Given the description of an element on the screen output the (x, y) to click on. 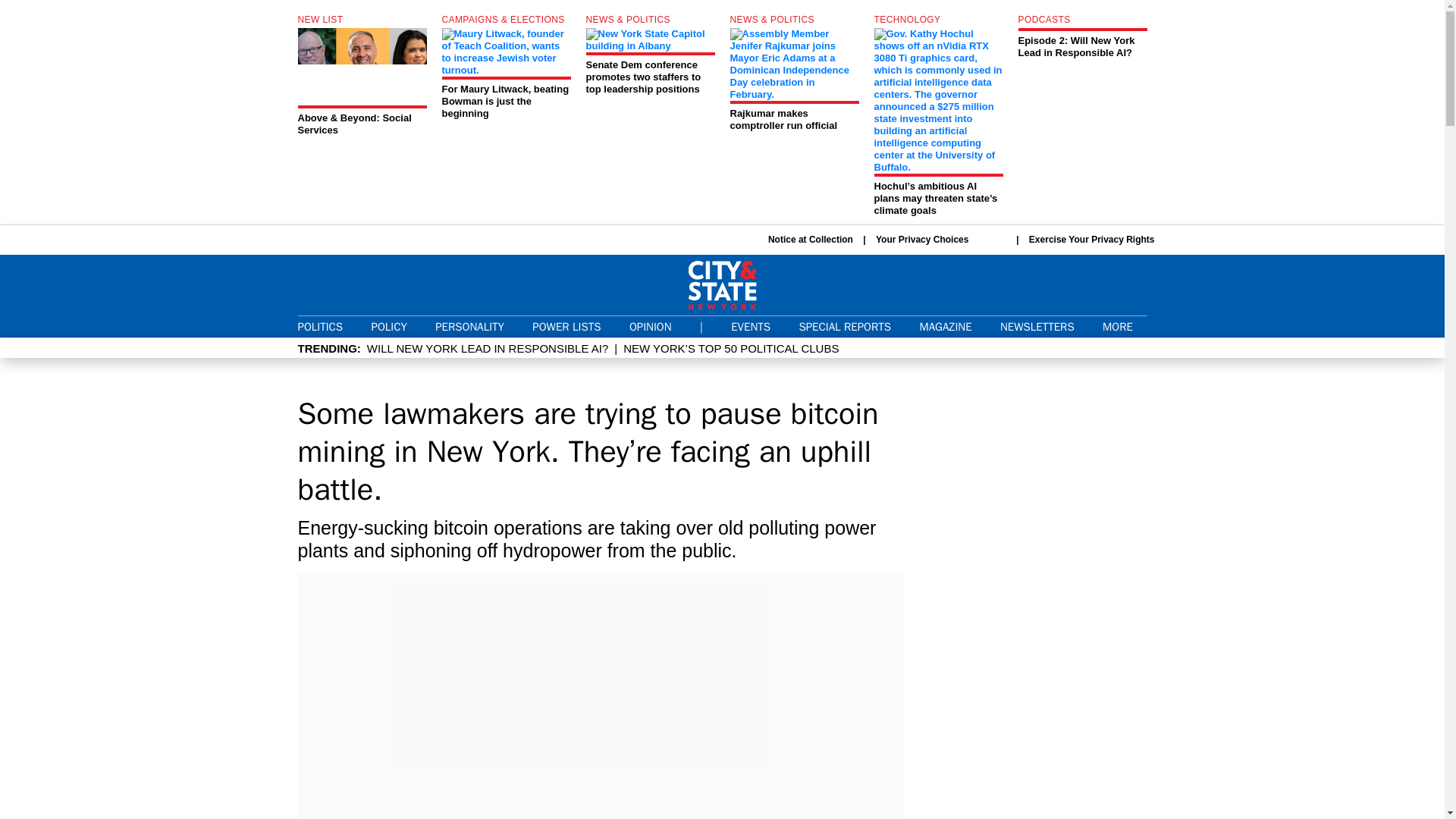
POWER LISTS (1082, 36)
Notice at Collection (565, 326)
POLITICS (810, 239)
PERSONALITY (319, 326)
Your Privacy Choices (469, 326)
OPINION (941, 239)
NEWSLETTERS (649, 326)
MAGAZINE (1037, 326)
MORE (944, 326)
